Given the description of an element on the screen output the (x, y) to click on. 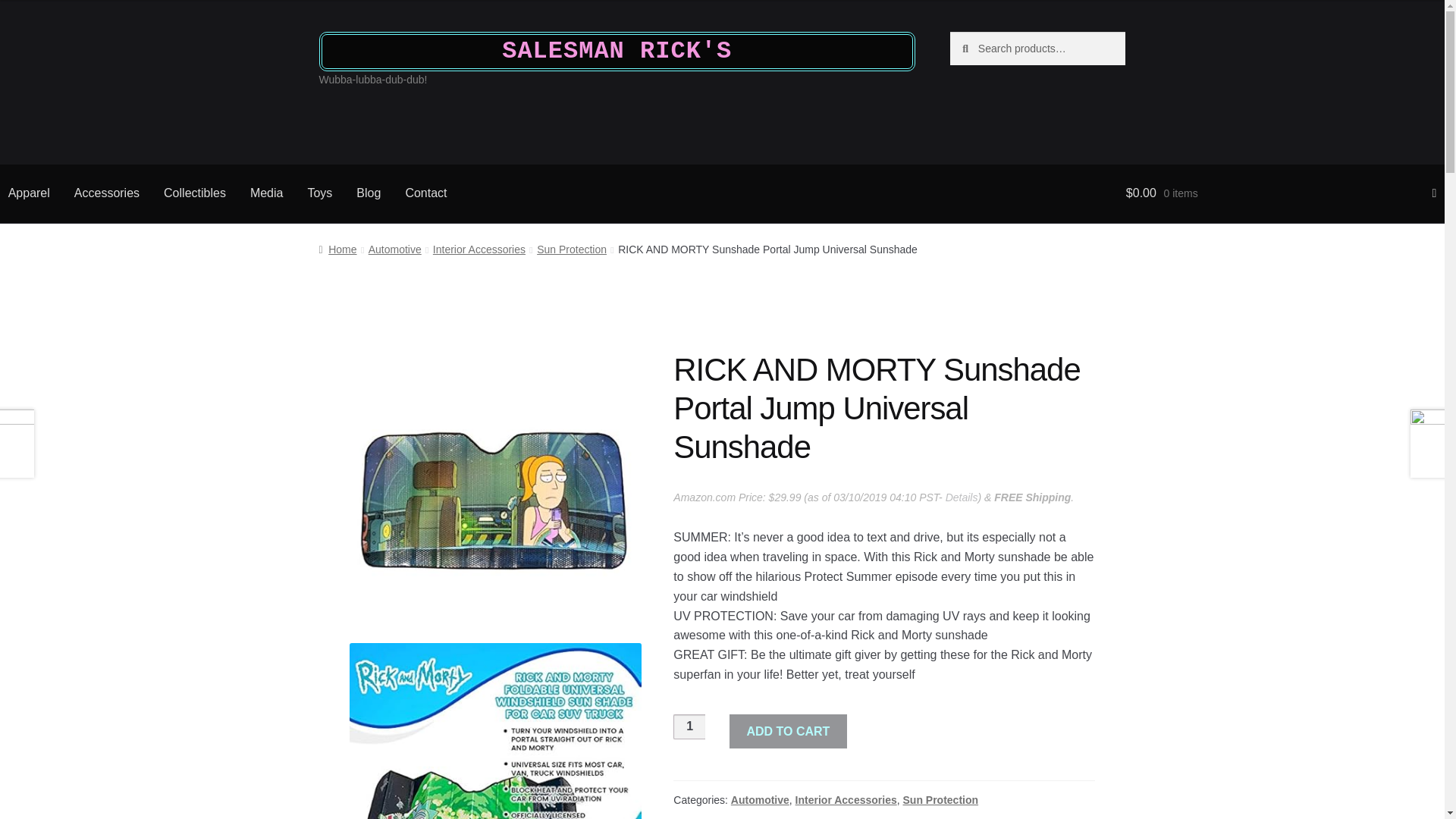
Apparel (31, 193)
Contact (425, 193)
RICK-AND-MORTY-Sunshade-Portal-Jump-Universal-Sunshade (495, 730)
Accessories (106, 193)
Automotive (759, 799)
ADD TO CART (788, 731)
Sun Protection (572, 249)
SALESMAN RICK'S (616, 51)
1 (688, 727)
RICK-AND-MORTY-Sunshade-Portal-Jump-Universal-Sunshade (495, 496)
Interior Accessories (845, 799)
View your shopping cart (1280, 193)
Details (961, 497)
Sun Protection (940, 799)
